Given the description of an element on the screen output the (x, y) to click on. 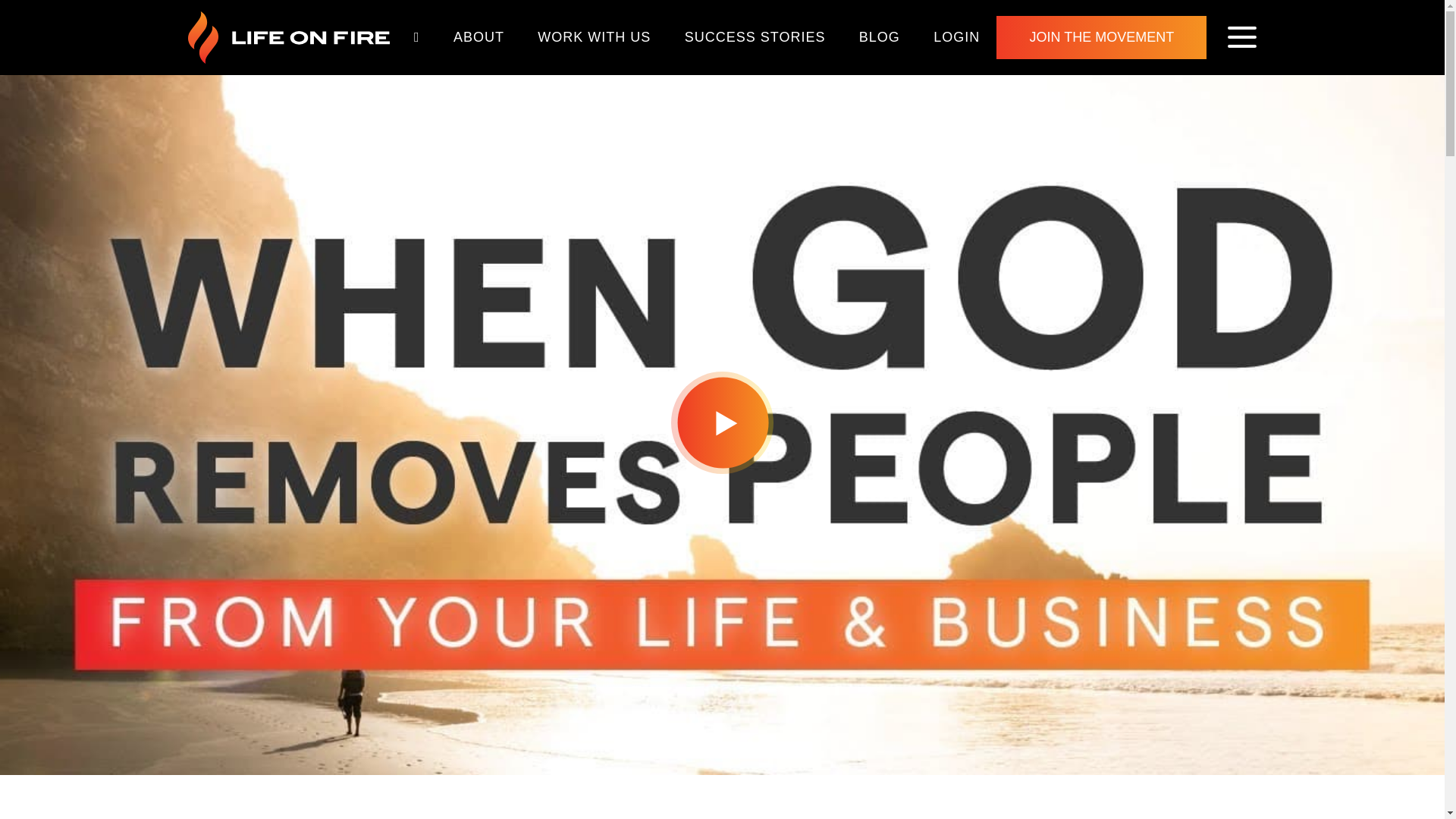
WORK WITH US (593, 37)
SUCCESS STORIES (755, 37)
BLOG (880, 37)
ABOUT (478, 37)
JOIN THE MOVEMENT (1101, 36)
LOGIN (956, 37)
